Given the description of an element on the screen output the (x, y) to click on. 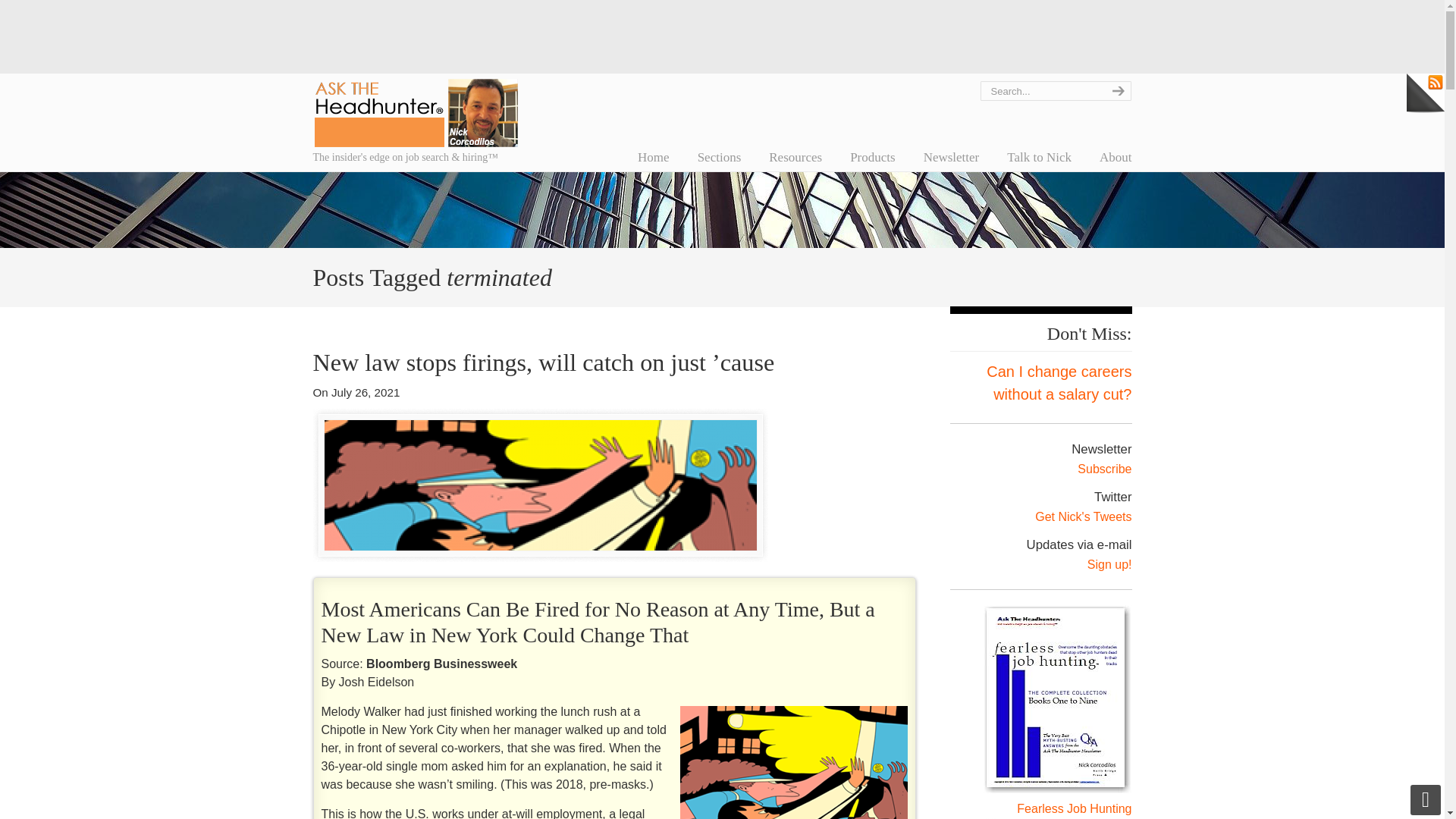
Sections (719, 157)
Products (872, 157)
Advertisement (721, 33)
Newsletter (951, 157)
Resources (795, 157)
search (1115, 90)
Home (653, 157)
Search... (1039, 90)
Talk to Nick (1038, 157)
search (1115, 90)
